Given the description of an element on the screen output the (x, y) to click on. 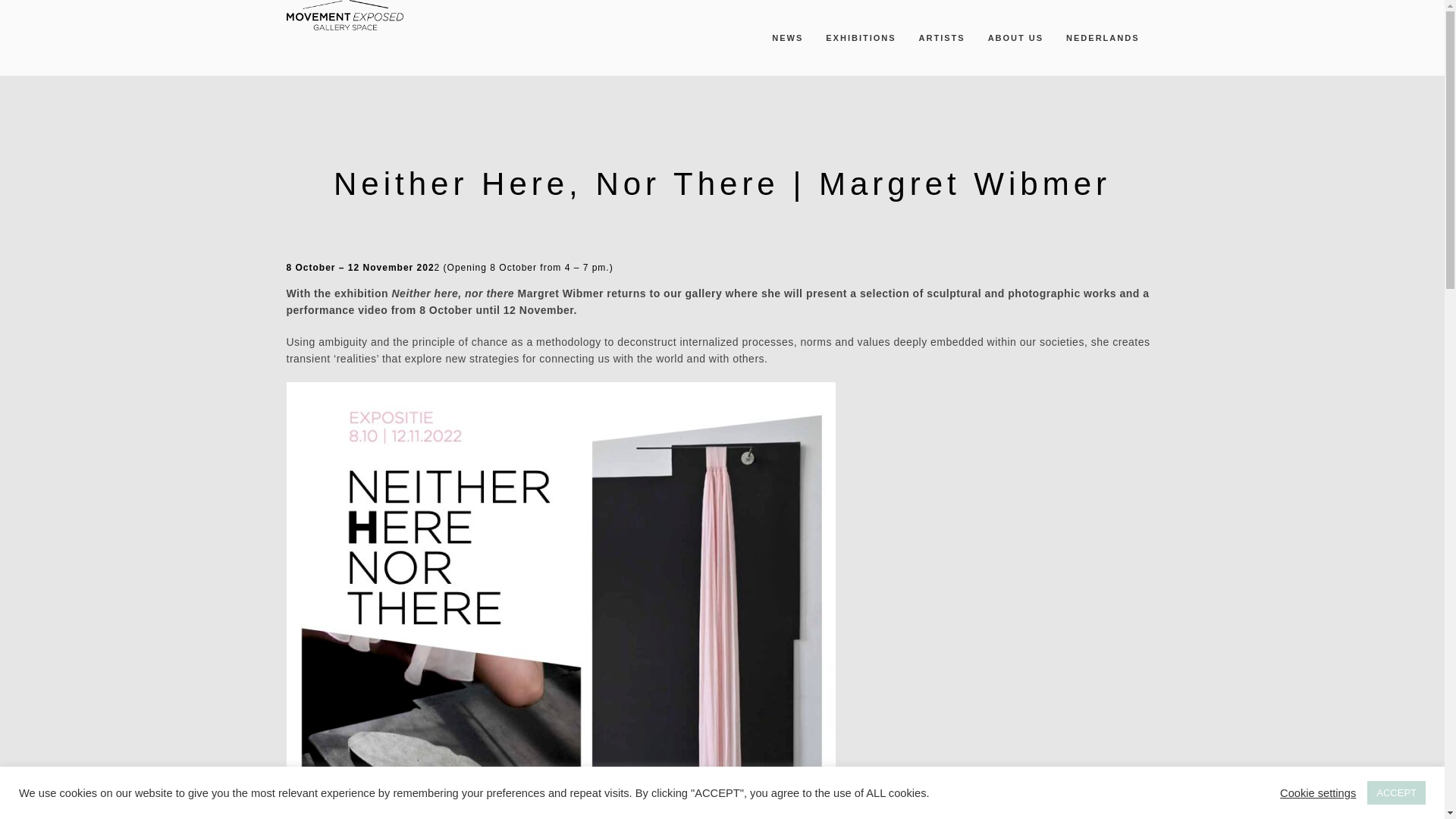
EXHIBITIONS (860, 38)
